Given the description of an element on the screen output the (x, y) to click on. 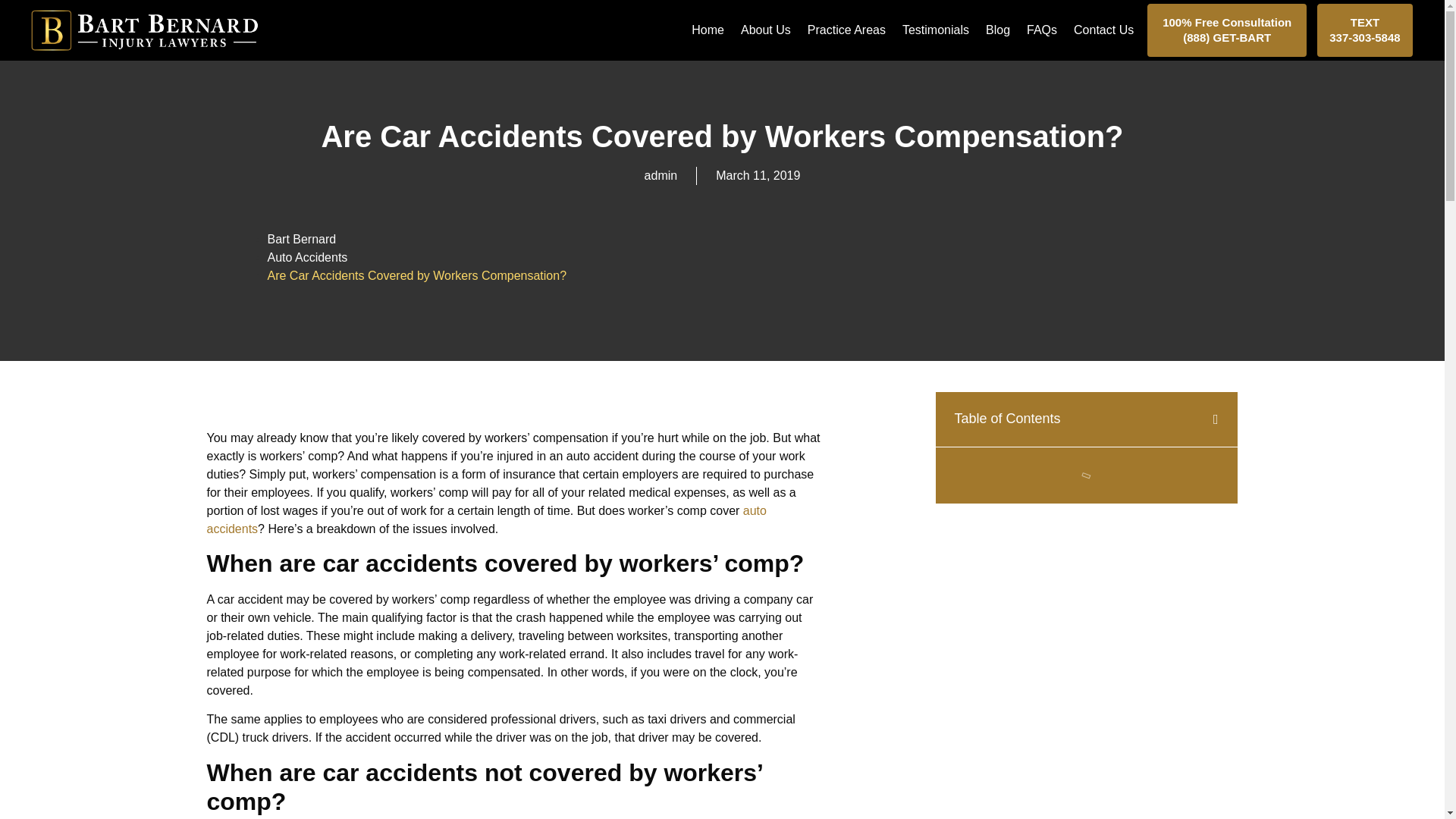
Testimonials (936, 29)
Blog (997, 29)
Practice Areas (846, 29)
About Us (765, 29)
Contact Us (1103, 29)
FAQs (1041, 29)
Home (708, 29)
